Given the description of an element on the screen output the (x, y) to click on. 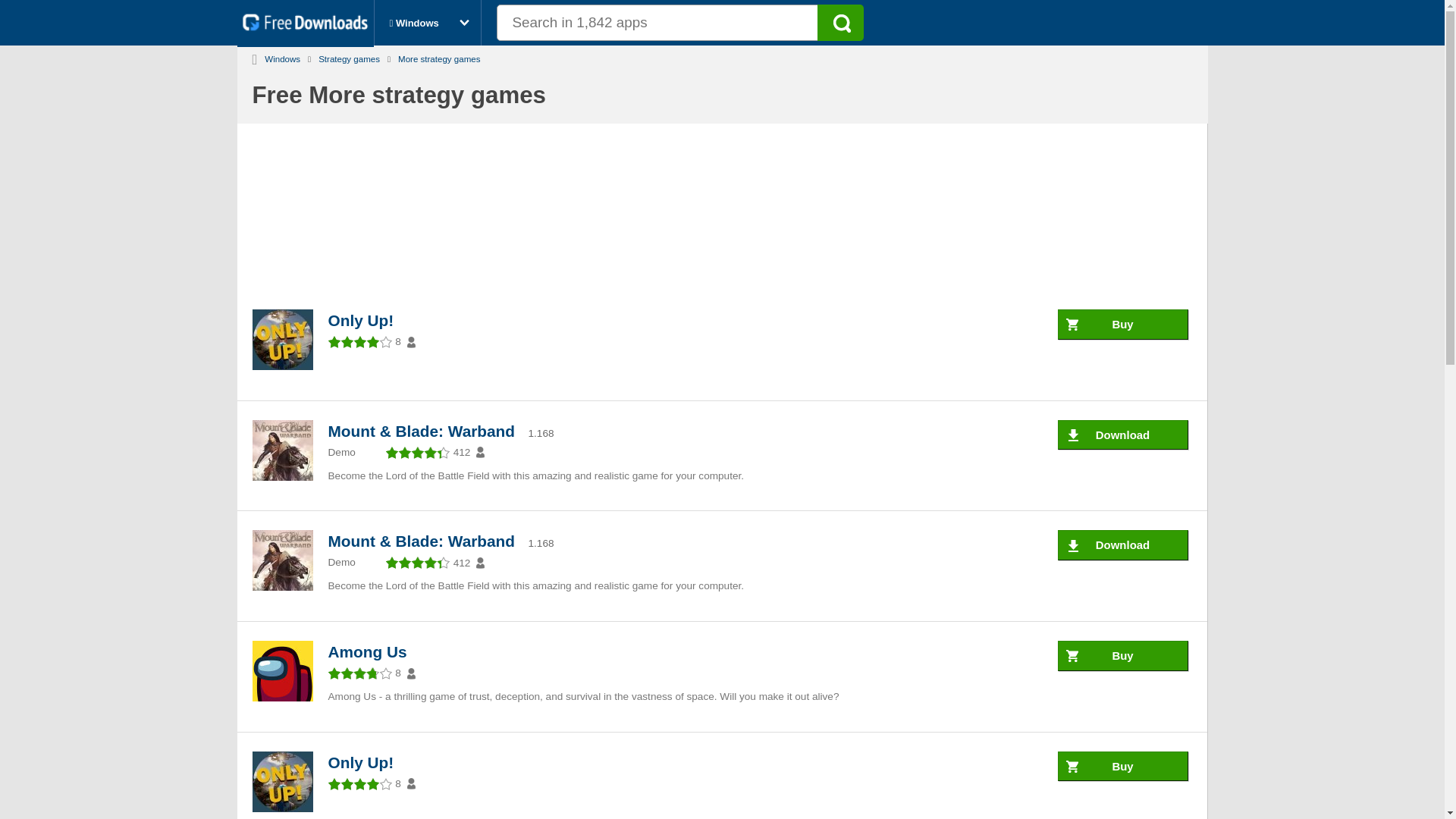
PortalProgramas (307, 26)
Windows (282, 55)
More strategy games (438, 55)
Strategy games (349, 55)
only up: Software of More strategy games (364, 762)
Download mount blade warband (1122, 435)
Buy only up (1122, 324)
among us: Software of More strategy games (370, 651)
Download (1122, 544)
mount blade warband: Software of More strategy games (282, 452)
war and military strategy games, civilization building (349, 55)
among us: Software of More strategy games (282, 672)
Download (1122, 435)
only up: Software of More strategy games (282, 783)
to play strategy games somehow different of the usual ones, (438, 55)
